Given the description of an element on the screen output the (x, y) to click on. 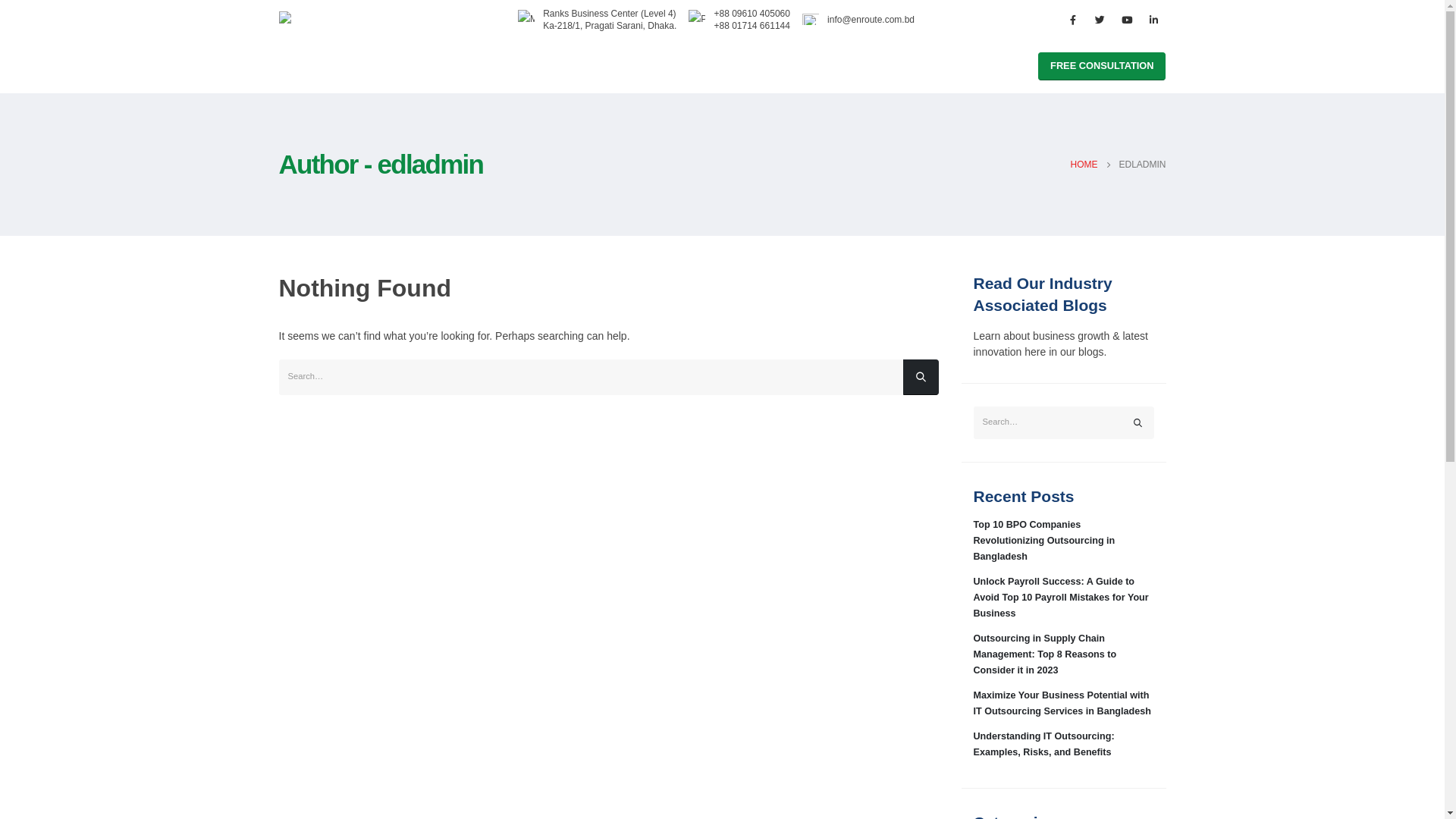
HOME Element type: text (1083, 164)
Contact Us Element type: text (492, 65)
+88 01714 661144 Element type: text (751, 25)
Twitter Element type: hover (1099, 19)
LinkedIn Element type: hover (1153, 19)
Youtube Element type: hover (1126, 19)
FREE CONSULTATION Element type: text (1101, 66)
+88 09610 405060 Element type: text (751, 13)
Home Element type: text (304, 65)
Facebook Element type: hover (1072, 19)
Services Element type: text (362, 65)
Industry Element type: text (425, 65)
info@enroute.com.bd Element type: text (870, 19)
Understanding IT Outsourcing: Examples, Risks, and Benefits Element type: text (1043, 744)
